Given the description of an element on the screen output the (x, y) to click on. 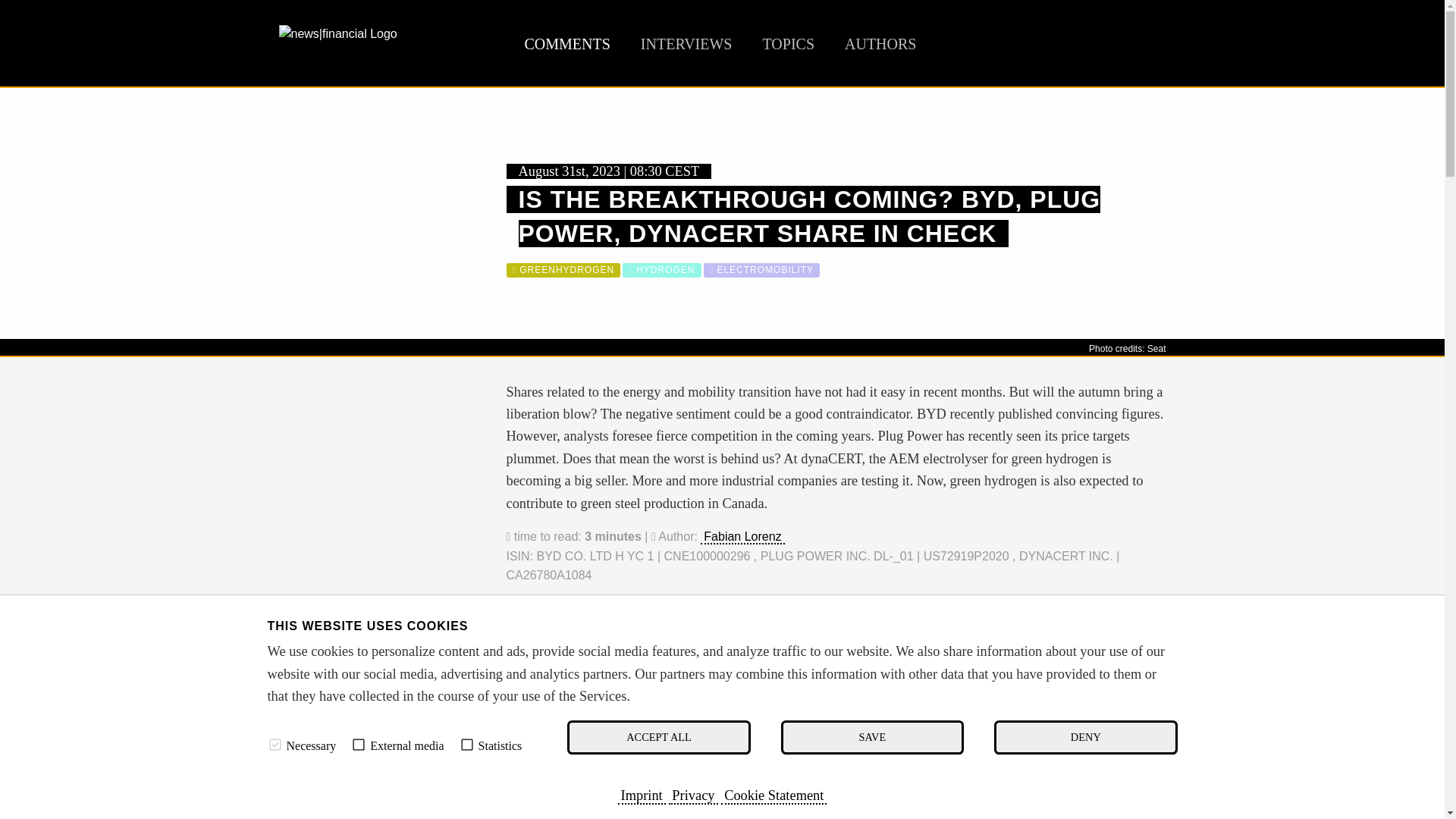
Imprint (641, 795)
Privacy (692, 795)
TOPICS (787, 44)
Cookie Statement (773, 795)
INTERVIEWS (686, 44)
AUTHORS (879, 44)
Jim Payne, CEO, dynaCERT Inc. (380, 757)
COMMENTS (566, 44)
Fabian Lorenz (742, 536)
SAVE (871, 737)
ACCEPT ALL (658, 737)
DENY (1085, 737)
